Given the description of an element on the screen output the (x, y) to click on. 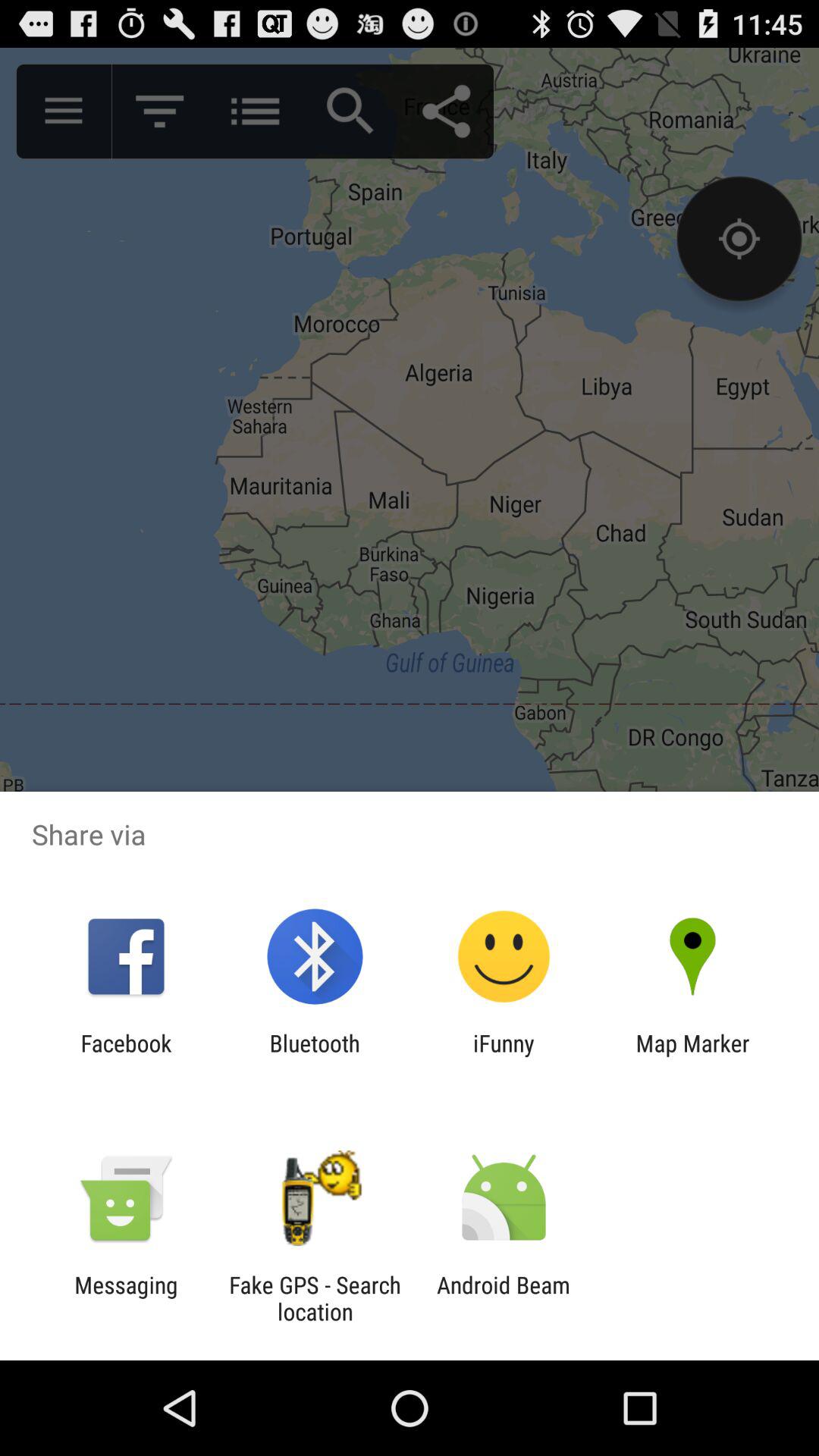
open the item next to map marker (503, 1056)
